Given the description of an element on the screen output the (x, y) to click on. 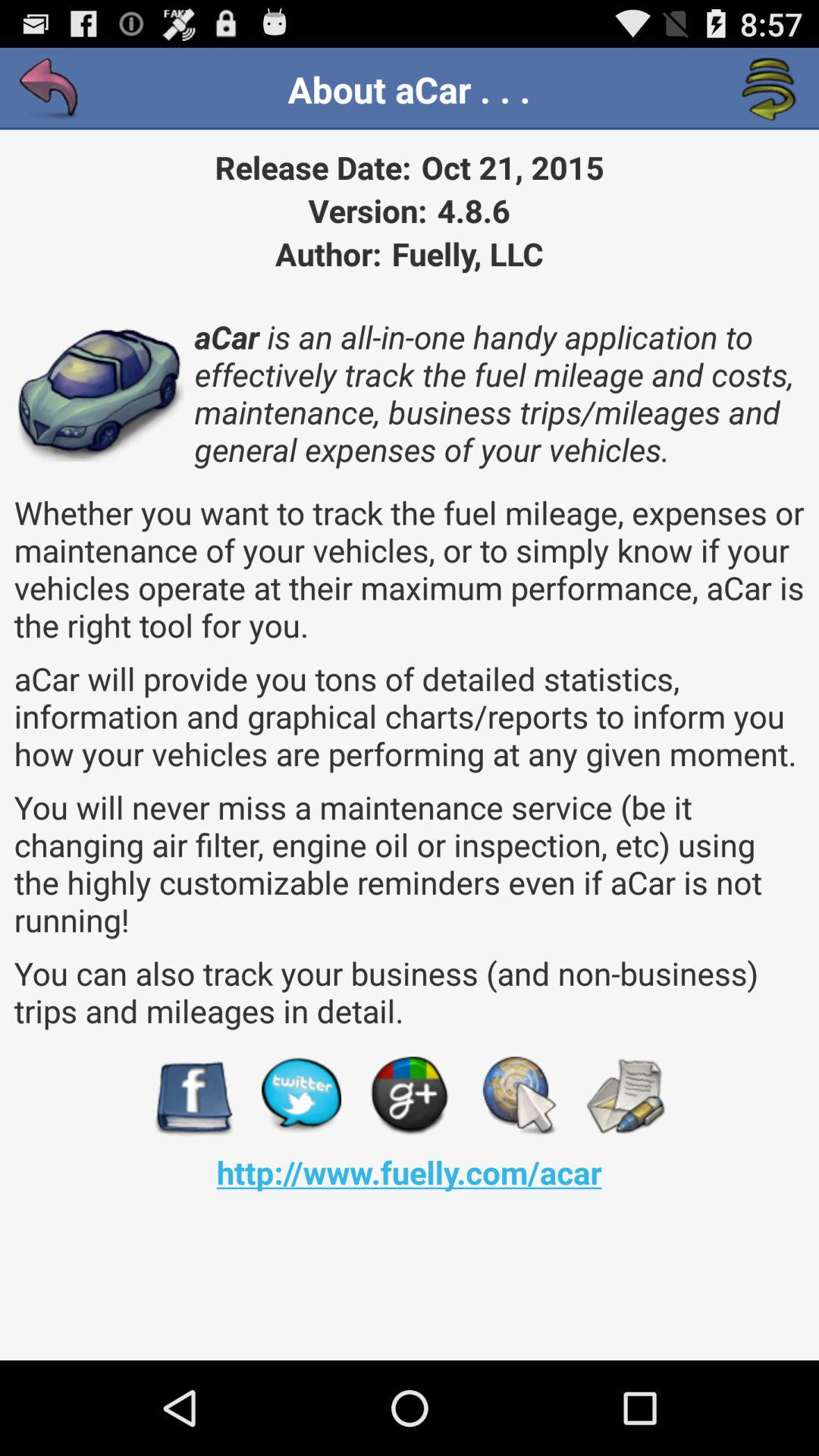
share to twitter (301, 1096)
